Given the description of an element on the screen output the (x, y) to click on. 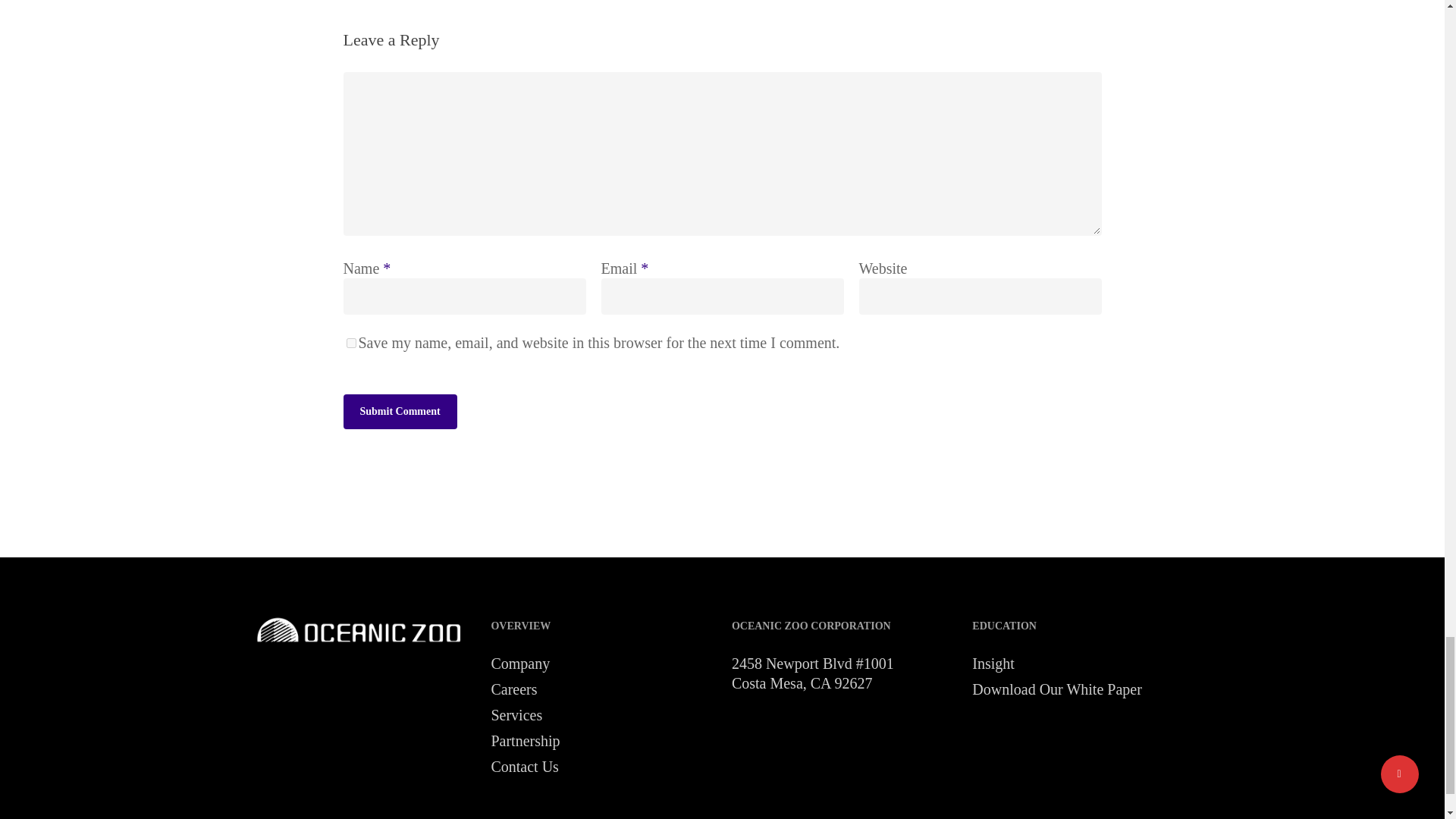
Download Our White Paper (1082, 689)
Contact Us (601, 766)
yes (350, 343)
Submit Comment (399, 411)
Careers (601, 689)
Company (601, 663)
Submit Comment (399, 411)
Partnership (601, 741)
Services (601, 714)
Insight (1082, 663)
